Given the description of an element on the screen output the (x, y) to click on. 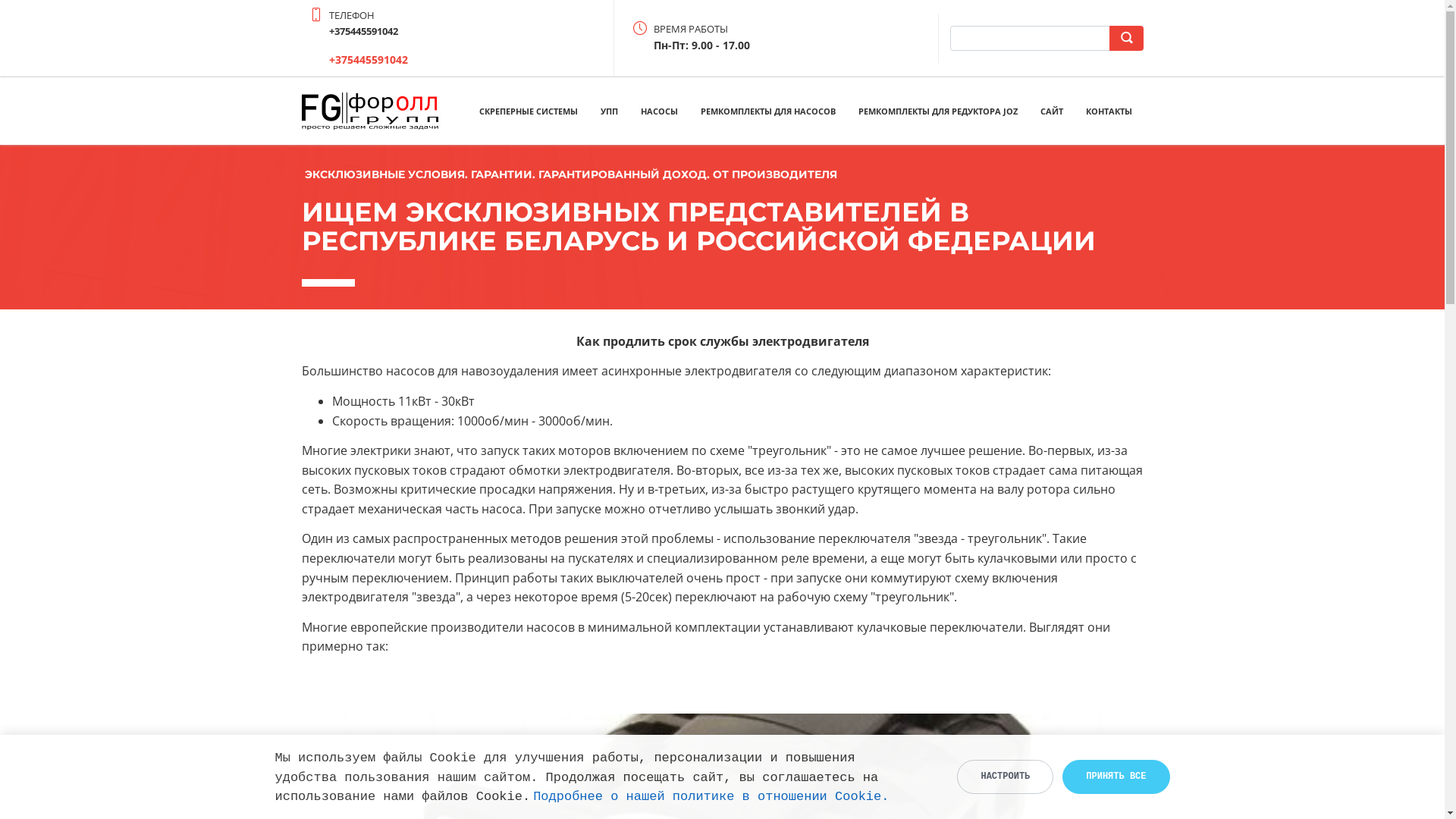
+375445591042 Element type: text (368, 59)
